Given the description of an element on the screen output the (x, y) to click on. 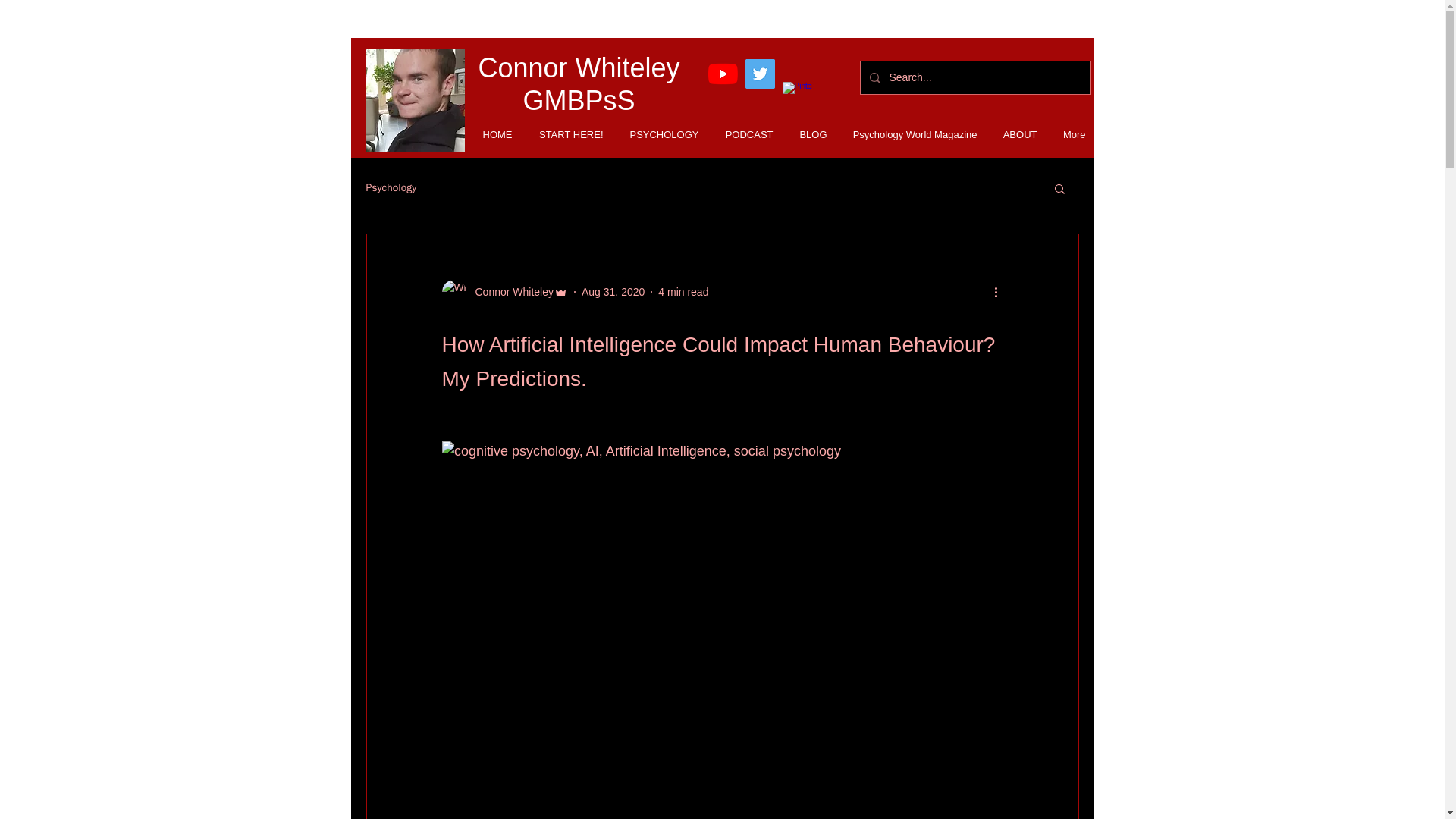
ABOUT (1015, 134)
PODCAST (743, 134)
BLOG (807, 134)
4 min read (682, 291)
START HERE! (565, 134)
Psychology (390, 187)
Aug 31, 2020 (612, 291)
 Connor Whiteley (509, 292)
Psychology World Magazine (910, 134)
PSYCHOLOGY (658, 134)
